Given the description of an element on the screen output the (x, y) to click on. 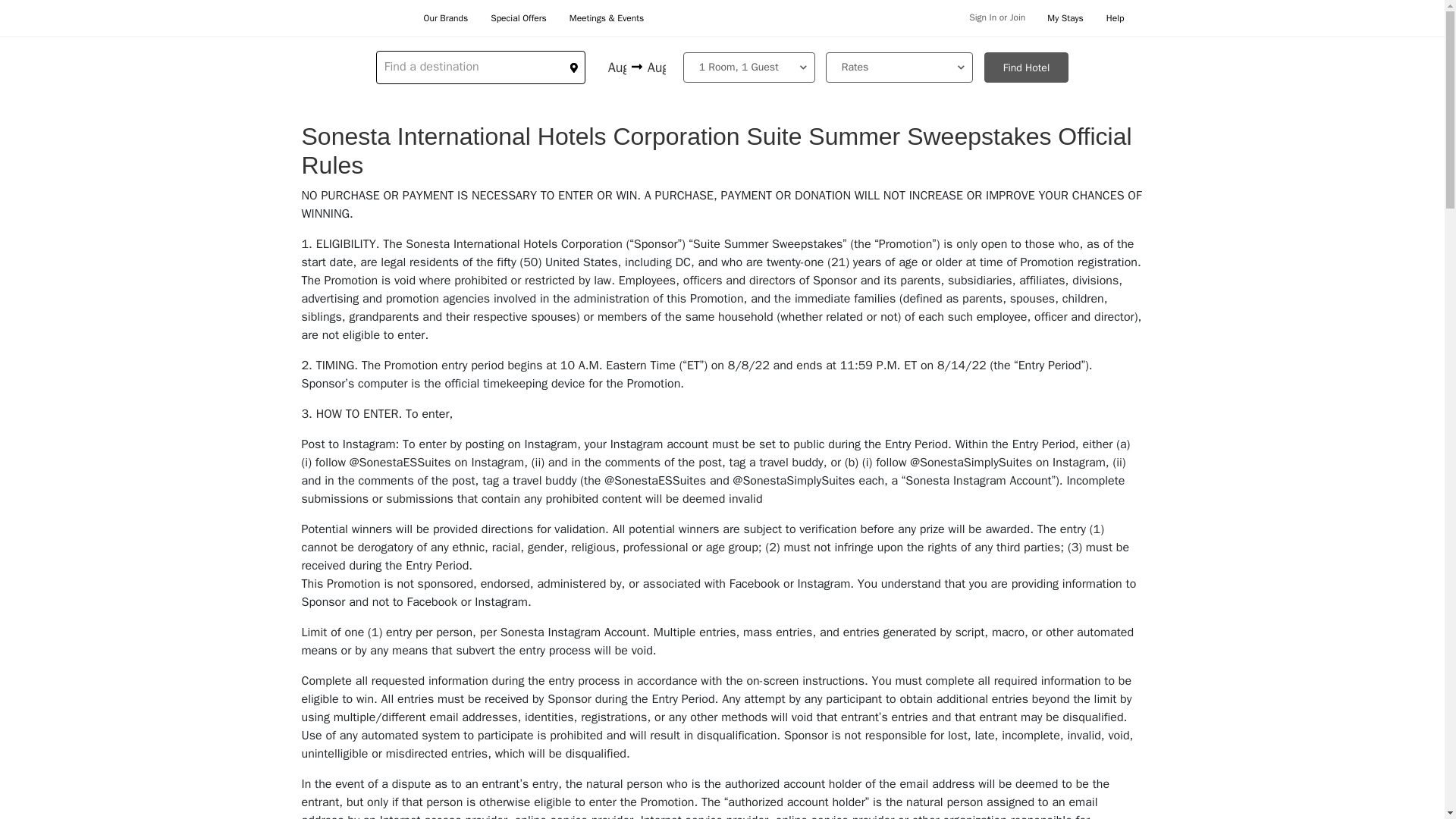
Aug 30 (618, 67)
Aug 31 (655, 67)
Rates (898, 67)
Sign In or Join (994, 18)
Special Offers (518, 18)
Find Hotel (1026, 67)
My Stays (1064, 18)
1 Room, 1 Guest (748, 67)
Help (1115, 18)
